Given the description of an element on the screen output the (x, y) to click on. 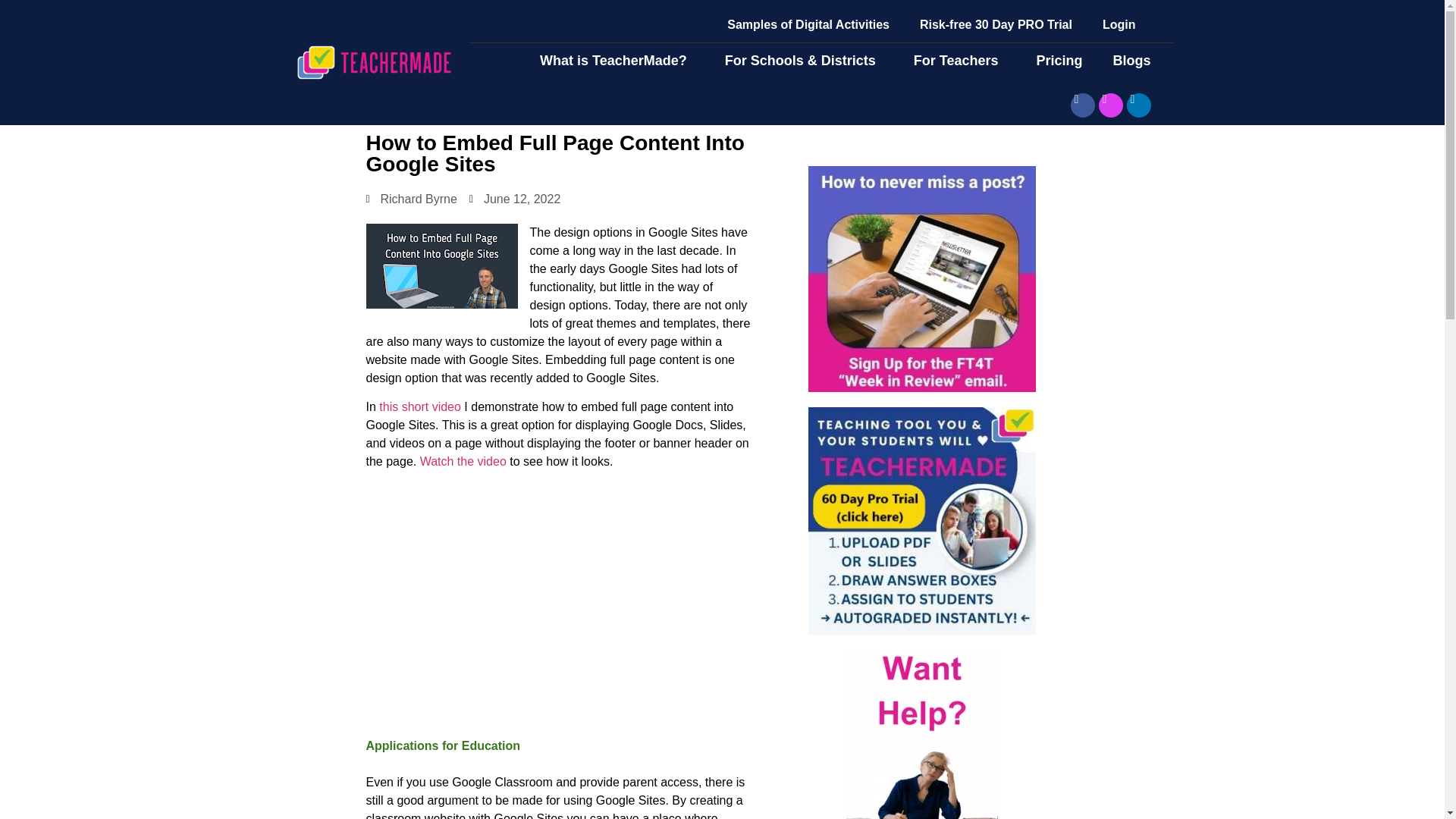
Pricing (1058, 60)
Risk-free 30 Day PRO Trial (995, 24)
YouTube video player (558, 601)
Samples of Digital Activities (807, 24)
For Teachers (960, 60)
Login (1119, 24)
Blogs (1135, 60)
What is TeacherMade? (617, 60)
